Given the description of an element on the screen output the (x, y) to click on. 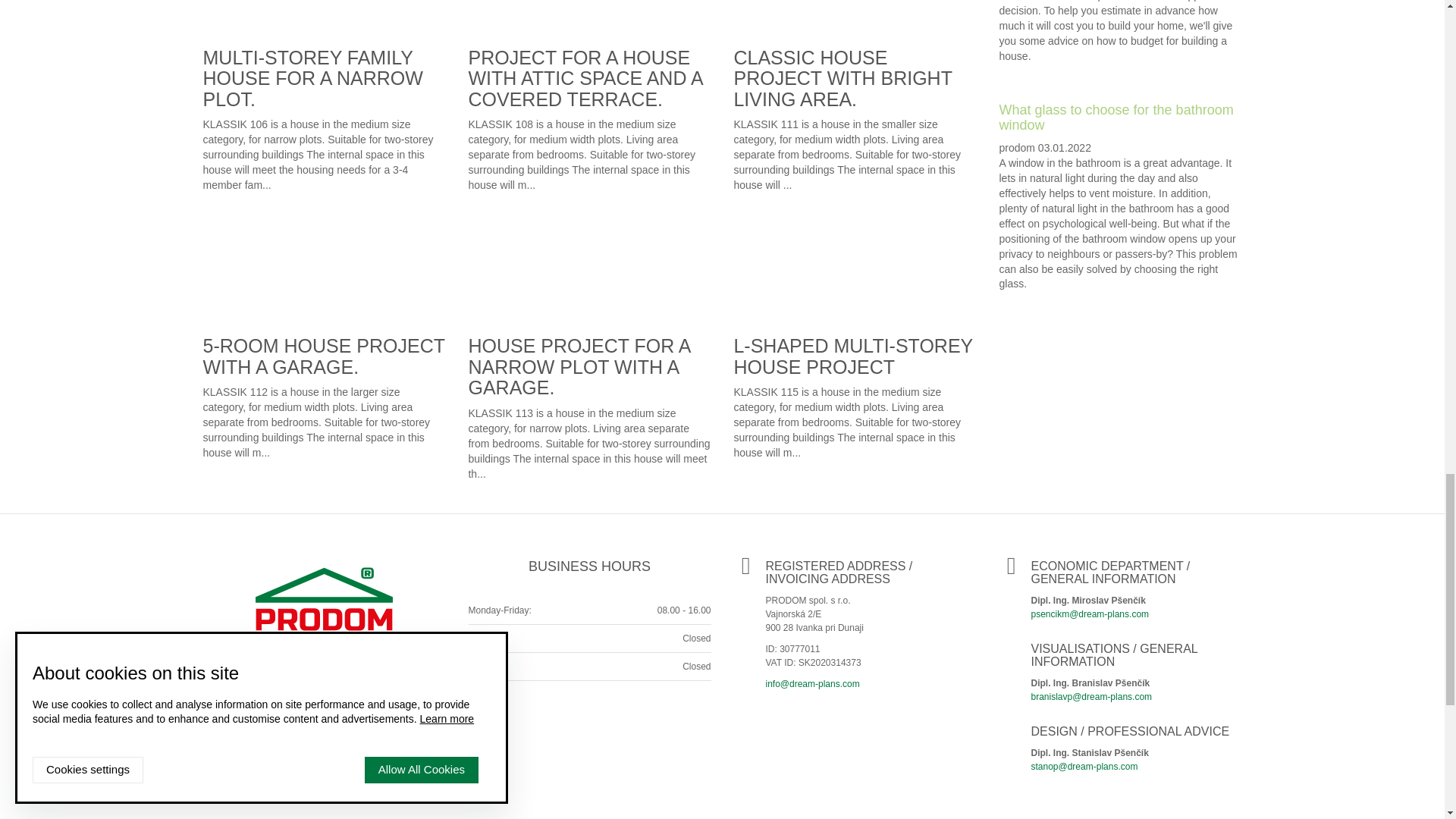
dream-plans.com (323, 615)
